Given the description of an element on the screen output the (x, y) to click on. 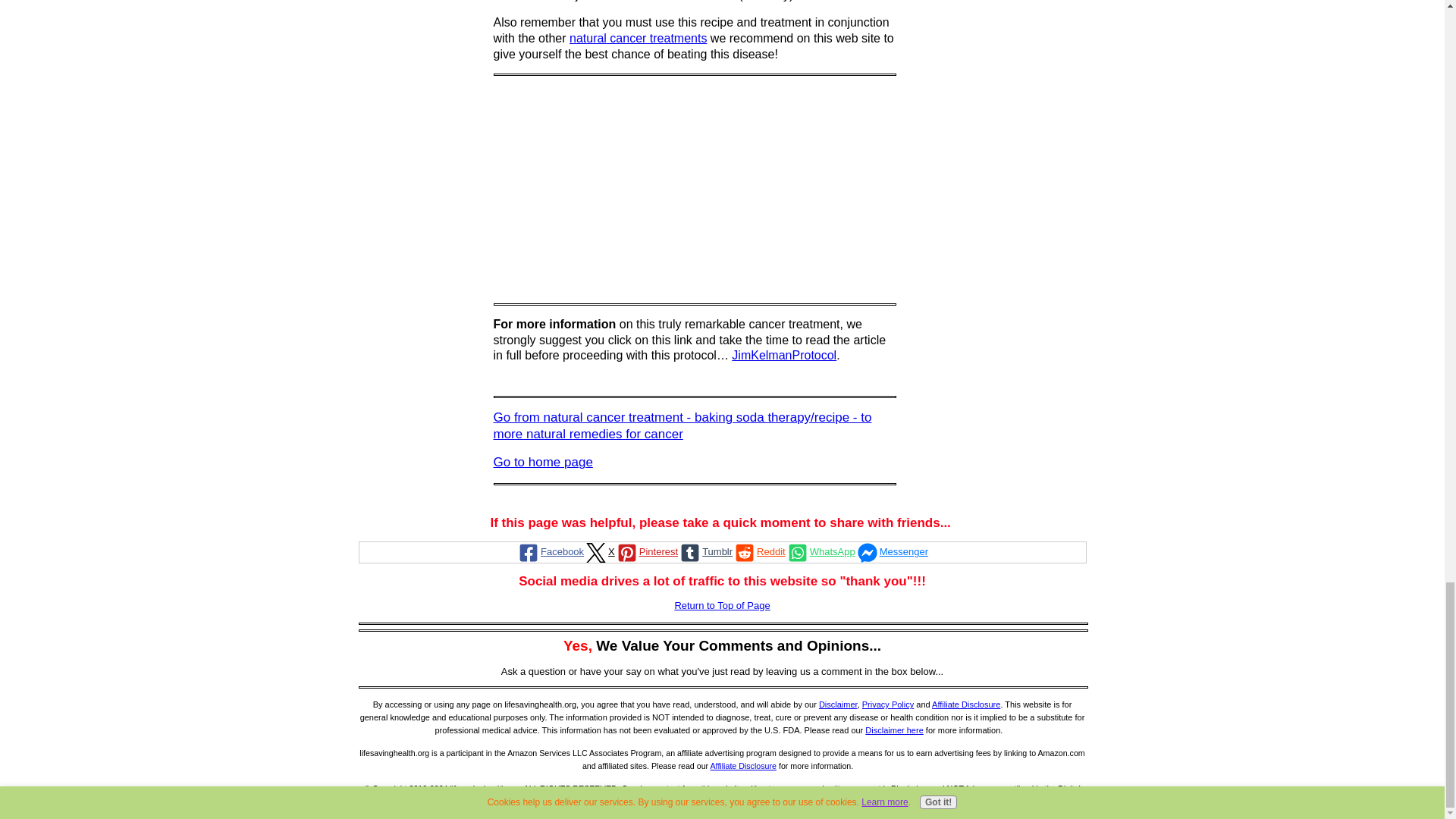
natural cancer treatments (637, 38)
JimKelmanProtocol (783, 354)
Go to home page (542, 461)
